Given the description of an element on the screen output the (x, y) to click on. 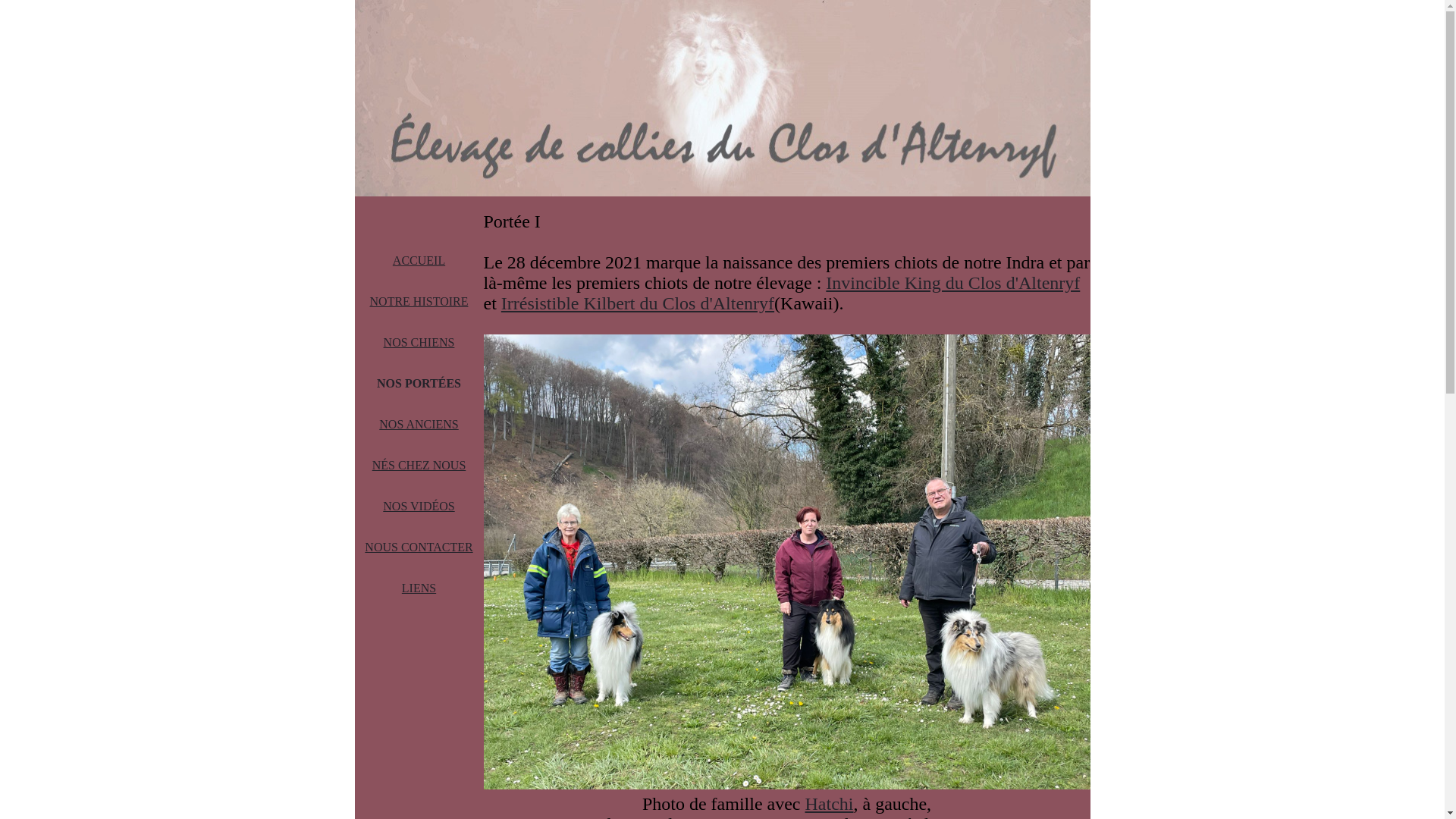
NOTRE HISTOIRE Element type: text (419, 300)
Hatchi Element type: text (829, 803)
Invincible King du Clos d'Altenryf Element type: text (952, 282)
LIENS Element type: text (418, 587)
NOUS CONTACTER Element type: text (418, 546)
NOS CHIENS Element type: text (419, 341)
NOS ANCIENS Element type: text (418, 423)
ACCUEIL Element type: text (418, 260)
